Given the description of an element on the screen output the (x, y) to click on. 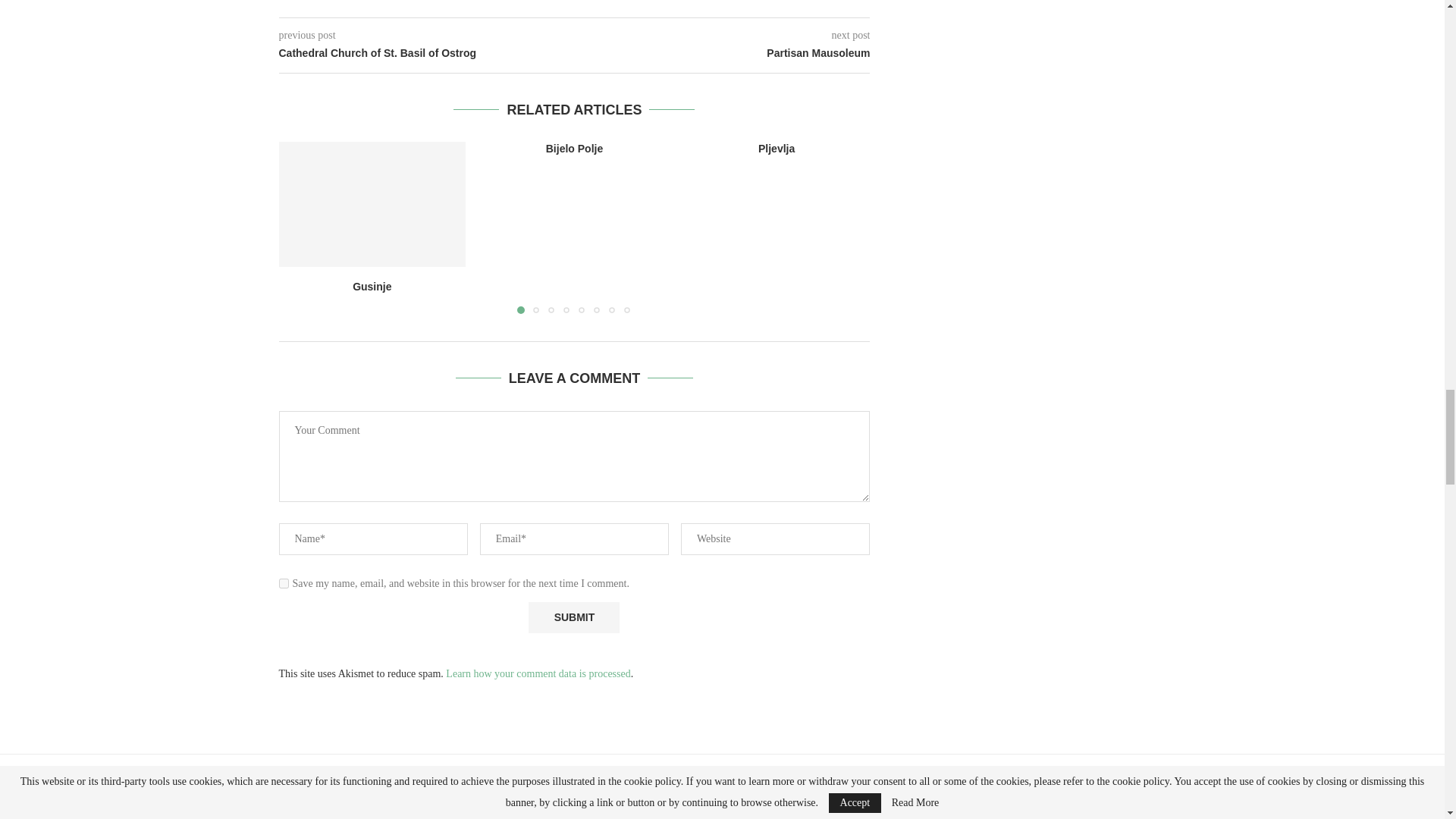
Submit (574, 617)
yes (283, 583)
